Given the description of an element on the screen output the (x, y) to click on. 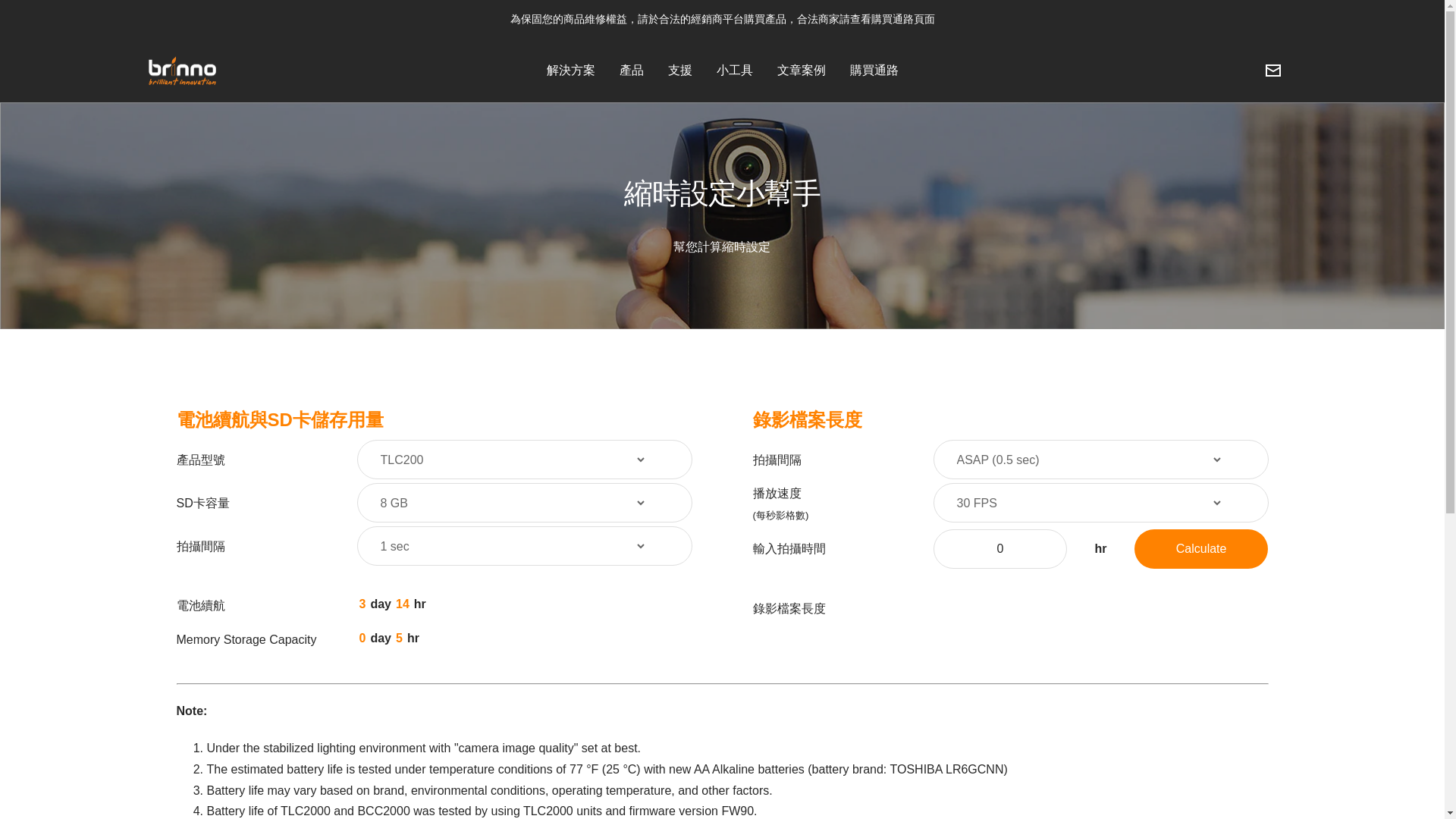
Calculate (1201, 548)
brinno-mkt (180, 70)
0 (1000, 548)
